Given the description of an element on the screen output the (x, y) to click on. 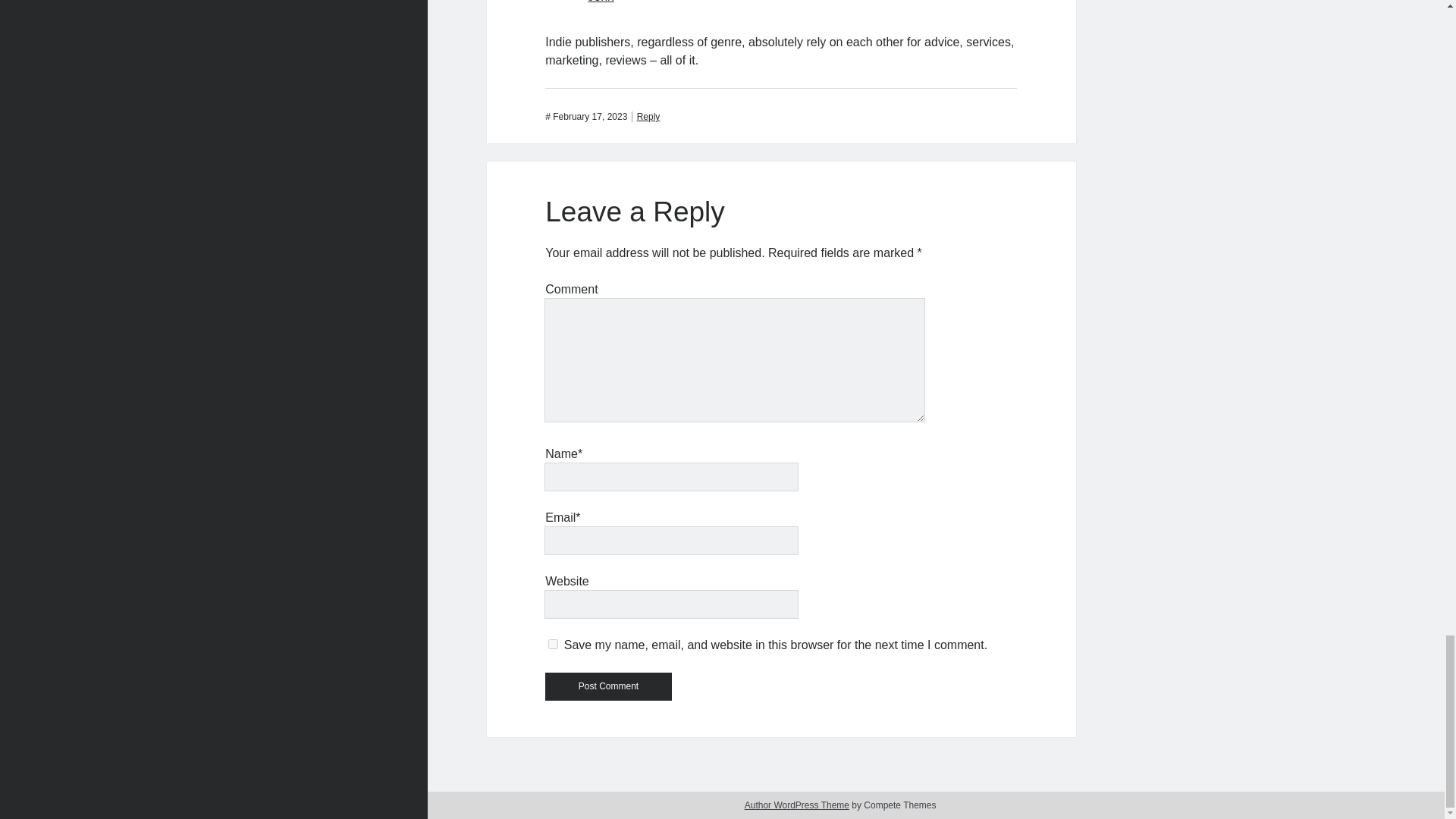
Post Comment (607, 686)
yes (552, 644)
